Given the description of an element on the screen output the (x, y) to click on. 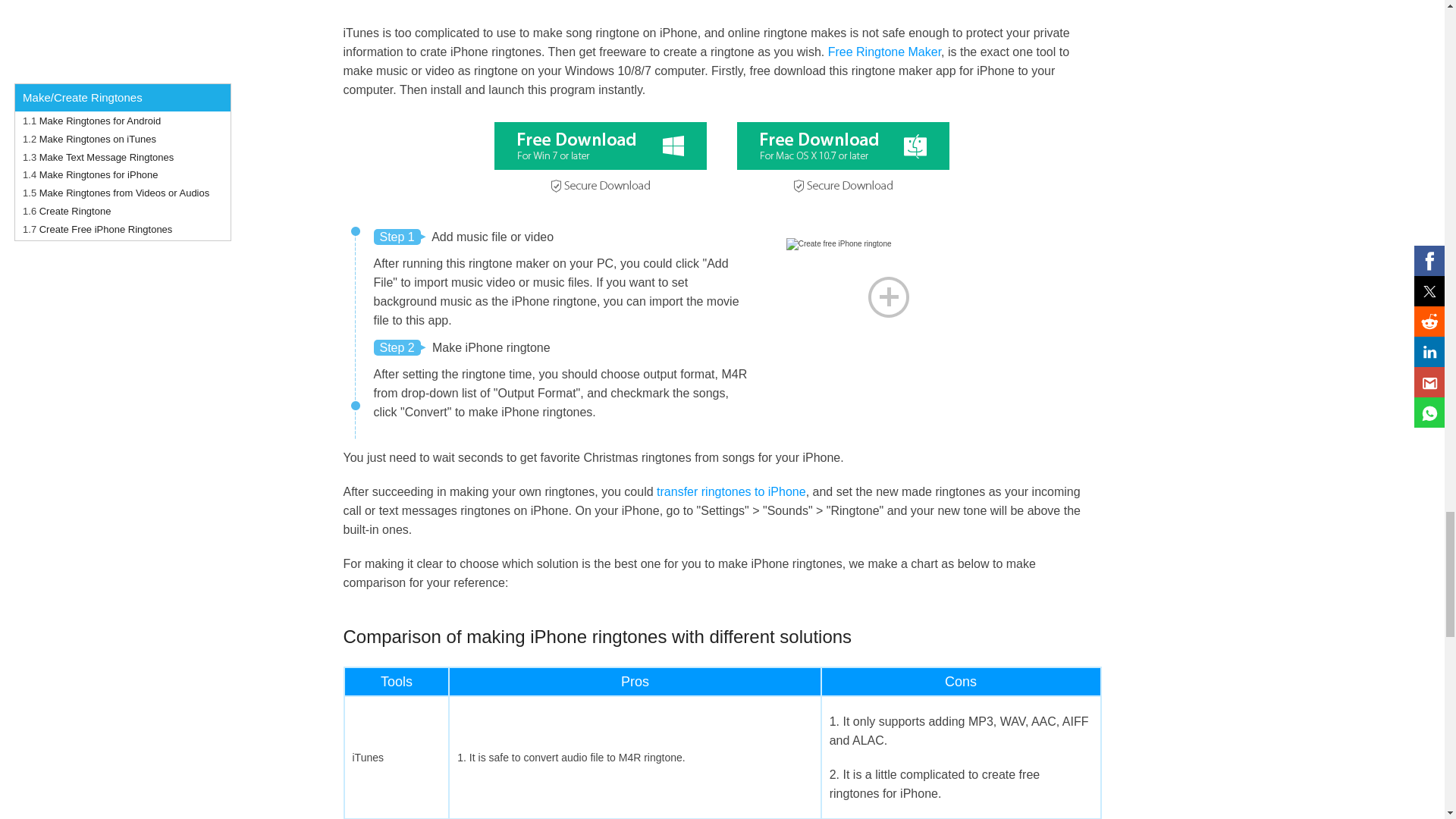
transfer ringtones to iPhone (731, 491)
Free Ringtone Maker (884, 51)
